Given the description of an element on the screen output the (x, y) to click on. 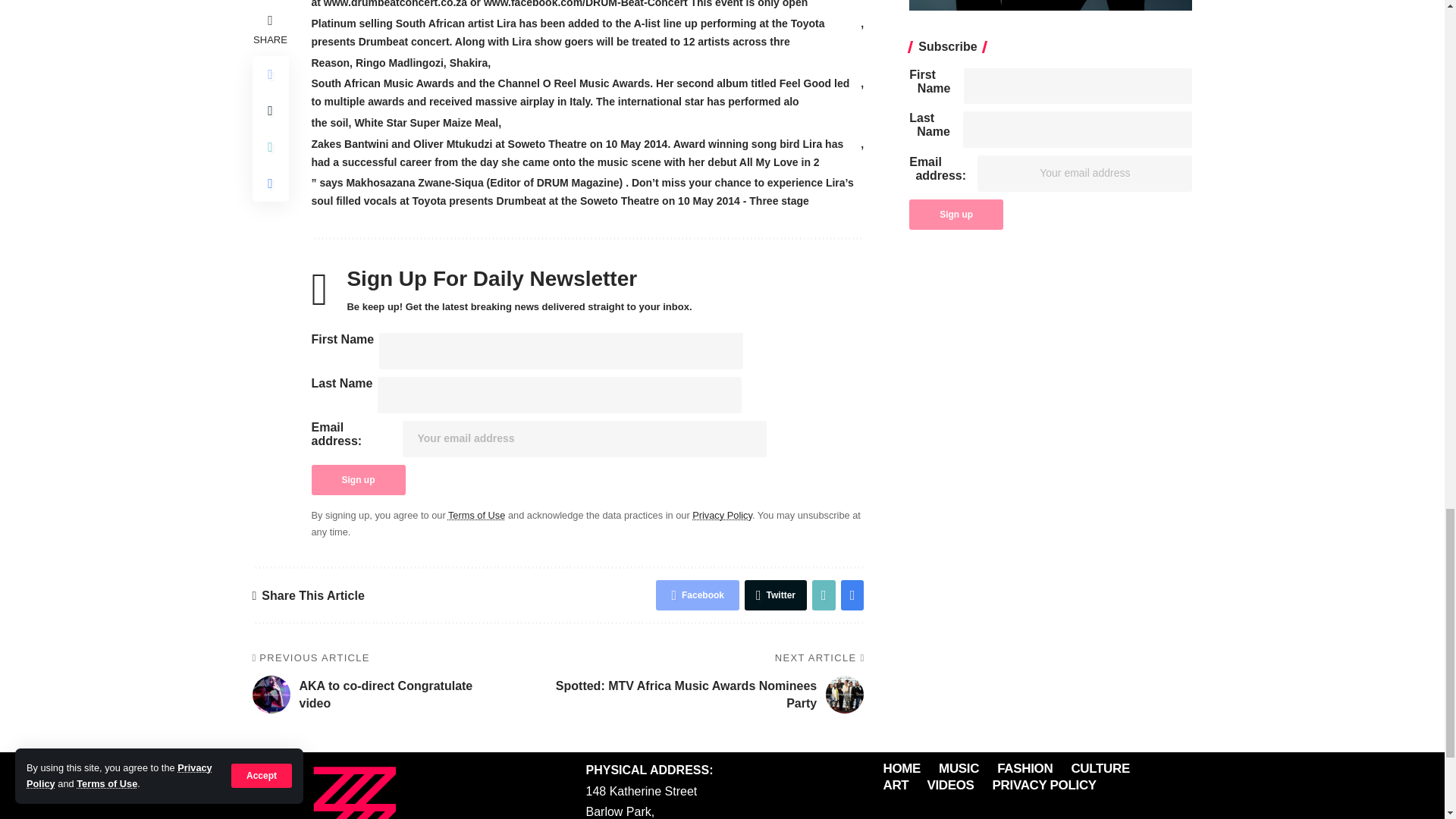
Sign up (357, 480)
